Given the description of an element on the screen output the (x, y) to click on. 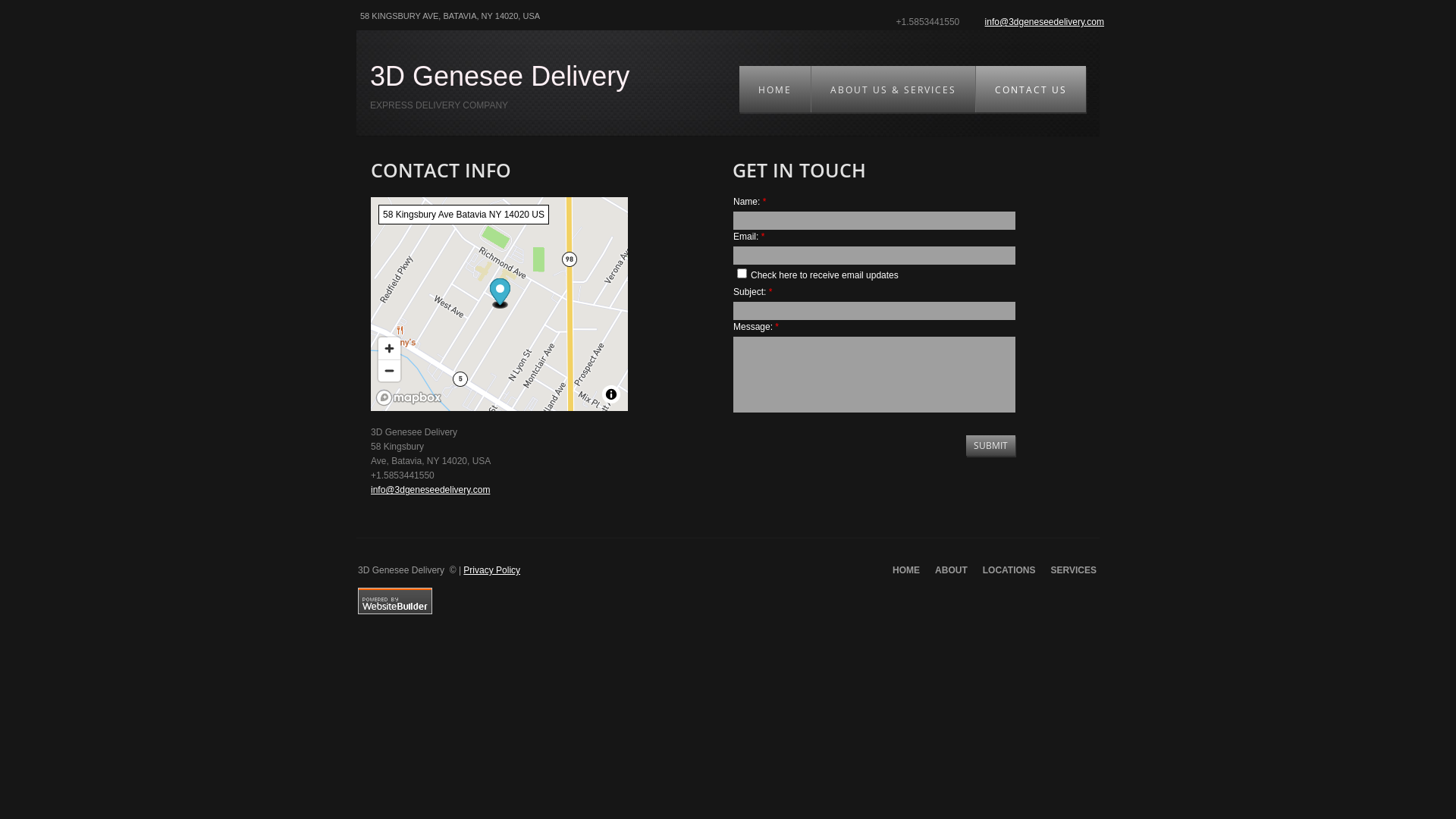
HOME Element type: text (774, 88)
Submit Element type: text (990, 445)
Toggle attribution Element type: hover (610, 393)
Zoom out Element type: hover (389, 369)
CONTACT US Element type: text (1030, 88)
SERVICES Element type: text (1073, 569)
ABOUT Element type: text (951, 569)
LOCATIONS Element type: text (1008, 569)
info@3dgeneseedelivery.com Element type: text (1044, 21)
ABOUT US & SERVICES Element type: text (892, 88)
HOME Element type: text (905, 569)
Privacy Policy Element type: text (491, 569)
info@3dgeneseedelivery.com Element type: text (429, 489)
Zoom in Element type: hover (389, 347)
